Given the description of an element on the screen output the (x, y) to click on. 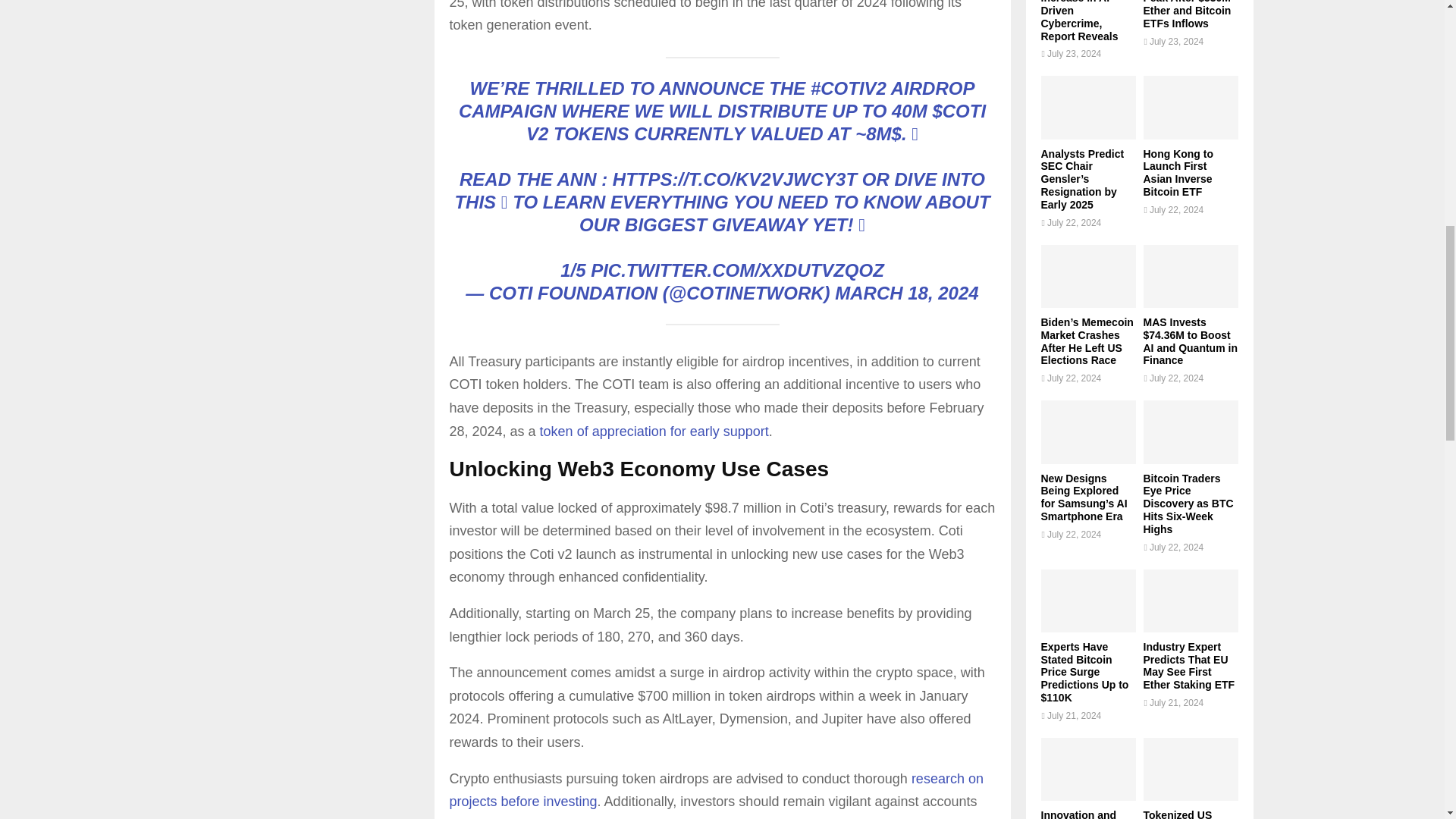
MARCH 18, 2024 (906, 292)
token of appreciation for early support (654, 431)
research on projects before investing (715, 789)
